Given the description of an element on the screen output the (x, y) to click on. 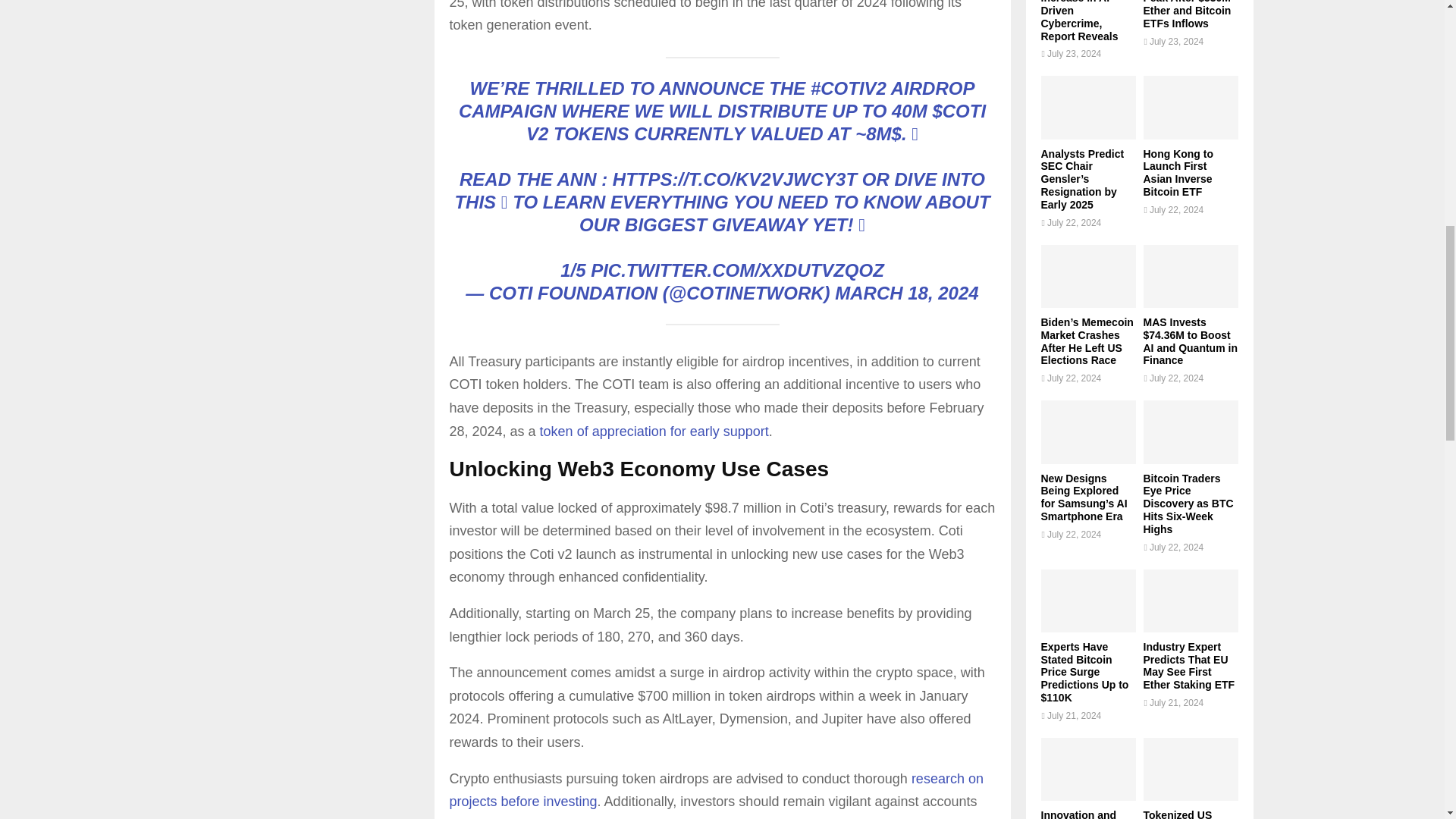
MARCH 18, 2024 (906, 292)
token of appreciation for early support (654, 431)
research on projects before investing (715, 789)
